Given the description of an element on the screen output the (x, y) to click on. 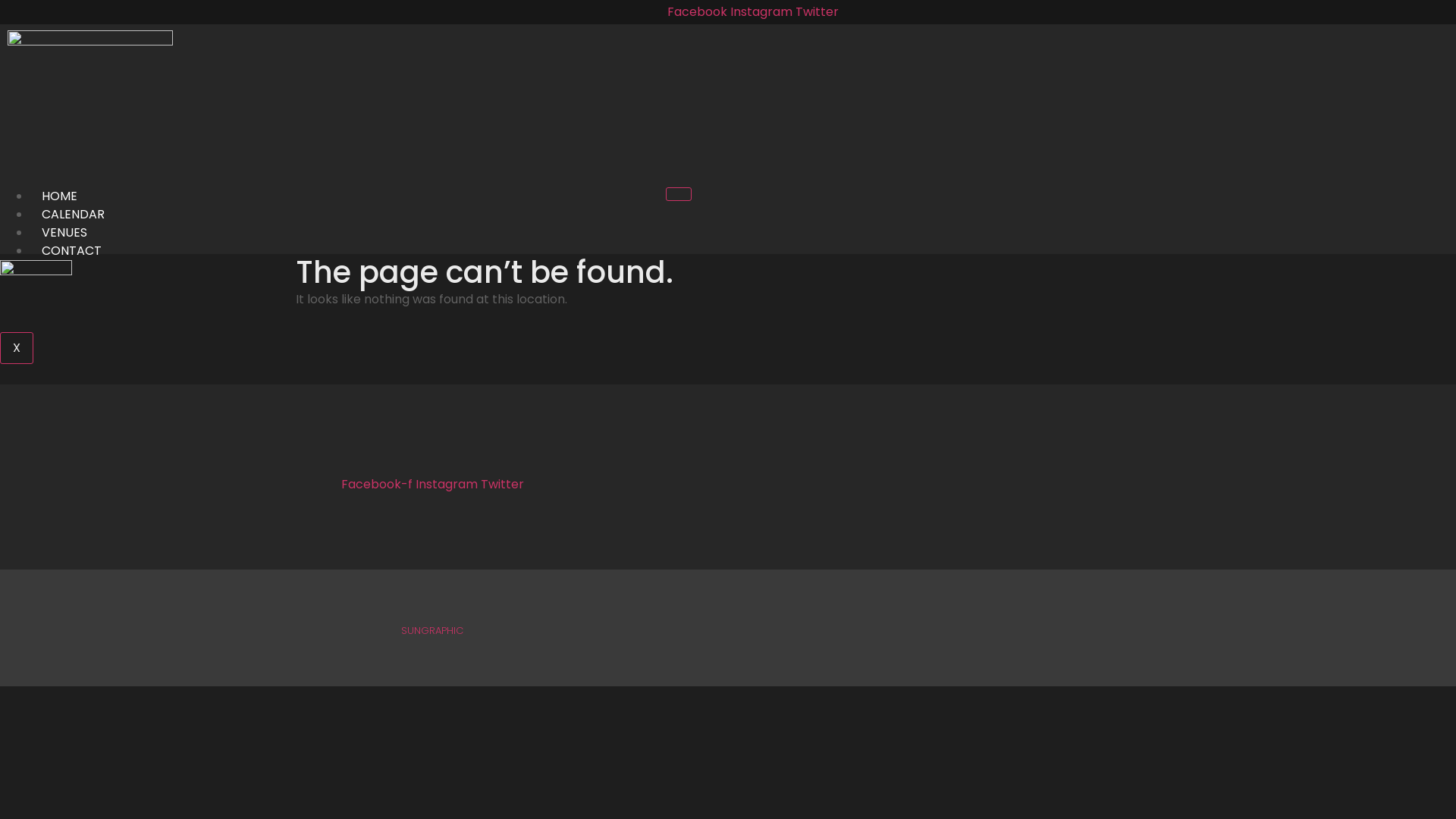
Instagram Element type: text (762, 11)
HOME Element type: text (59, 195)
Twitter Element type: text (502, 483)
SUNGRAPHIC Element type: text (432, 630)
CALENDAR Element type: text (73, 213)
CONTACT Element type: text (71, 250)
X Element type: text (16, 348)
Instagram Element type: text (447, 483)
Skip to content Element type: text (0, 0)
Facebook-f Element type: text (378, 483)
Facebook Element type: text (698, 11)
Twitter Element type: text (816, 11)
VENUES Element type: text (64, 232)
